Given the description of an element on the screen output the (x, y) to click on. 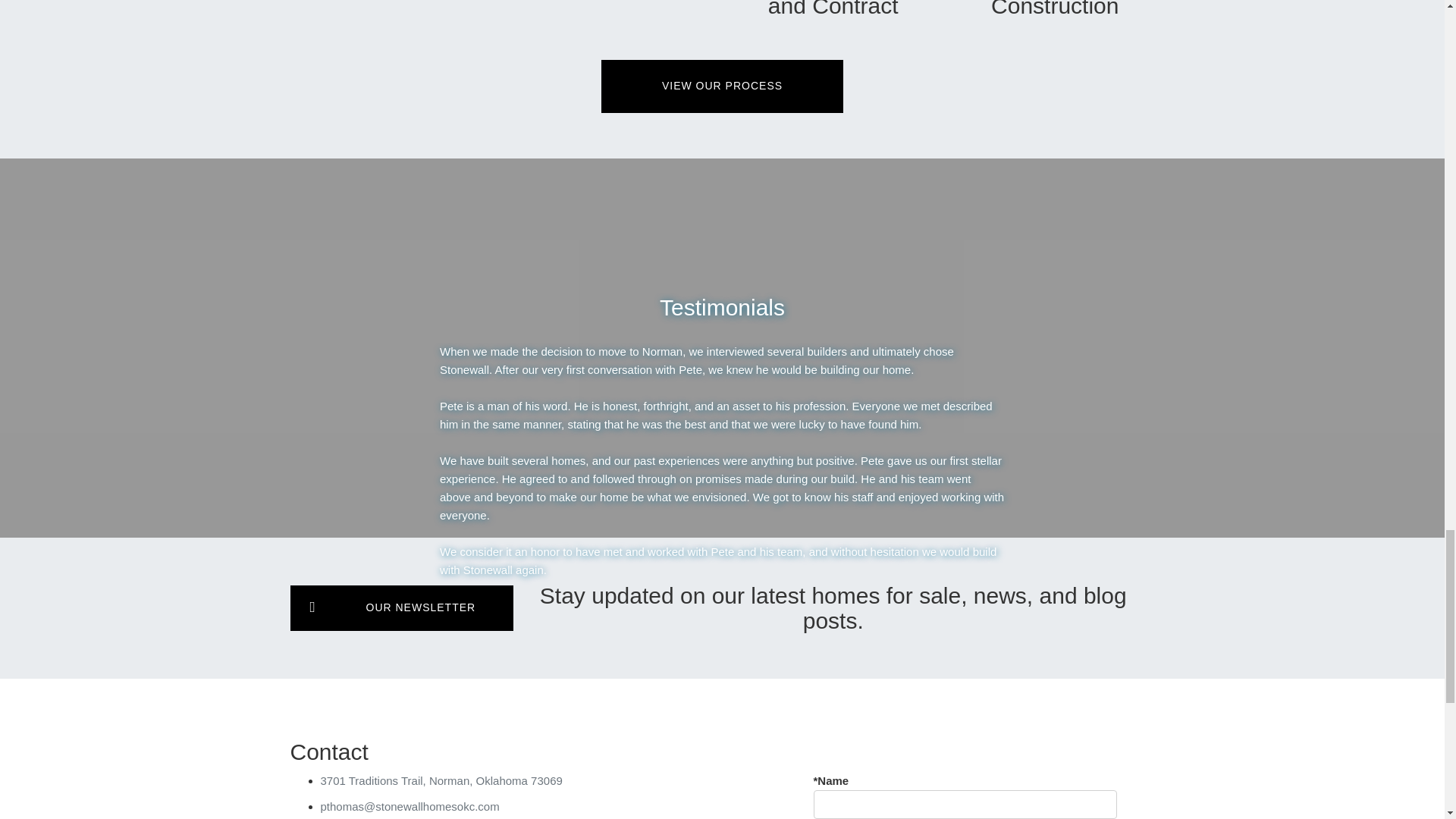
VIEW OUR PROCESS (722, 86)
OUR NEWSLETTER (401, 607)
3701 Traditions Trail, Norman, Oklahoma 73069 (441, 780)
